Given the description of an element on the screen output the (x, y) to click on. 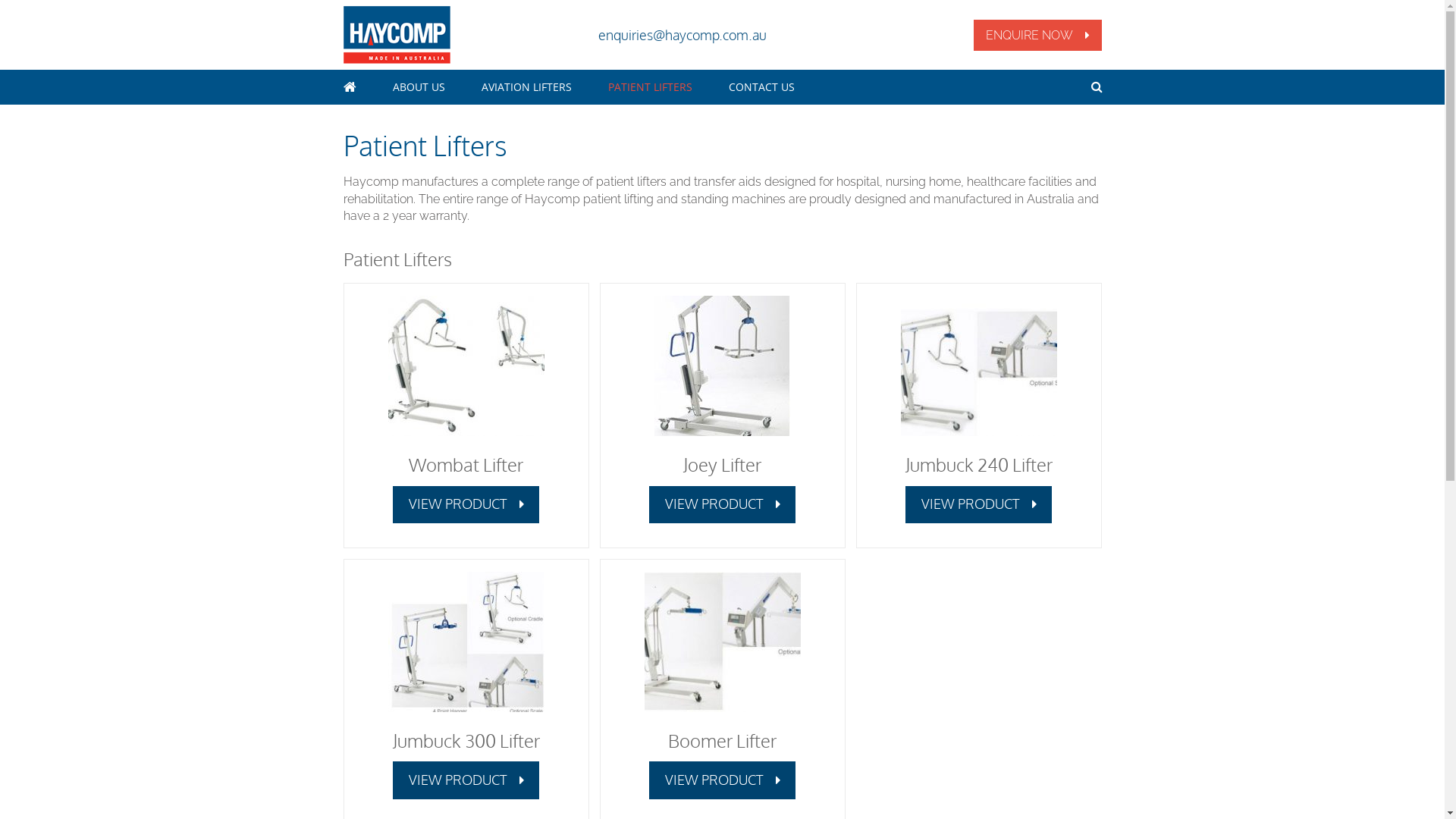
CONTACT US Element type: text (760, 86)
VIEW PRODUCT Element type: text (722, 504)
Jumbuck 300 Lifter Element type: text (465, 740)
Jumbuck 240 Lifter Element type: text (978, 464)
VIEW PRODUCT Element type: text (722, 779)
ENQUIRE NOW Element type: text (1037, 34)
ABOUT US Element type: text (418, 86)
AVIATION LIFTERS Element type: text (525, 86)
Joey Lifter Element type: text (722, 464)
Joey Lifter Element type: hover (722, 365)
Wombat Lifter Element type: hover (466, 365)
Boomer Lifter Element type: text (722, 740)
VIEW PRODUCT Element type: text (465, 779)
PATIENT LIFTERS Element type: text (650, 86)
Haycomp Pty Ltd. Element type: hover (395, 34)
VIEW PRODUCT Element type: text (978, 504)
enquiries@haycomp.com.au Element type: text (681, 34)
Boomer Lifter Element type: hover (722, 641)
Jumbuck 300 Lifter Element type: hover (466, 641)
Jumbuck 240 Lifter Element type: hover (978, 365)
VIEW PRODUCT Element type: text (465, 504)
Wombat Lifter Element type: text (465, 464)
